Given the description of an element on the screen output the (x, y) to click on. 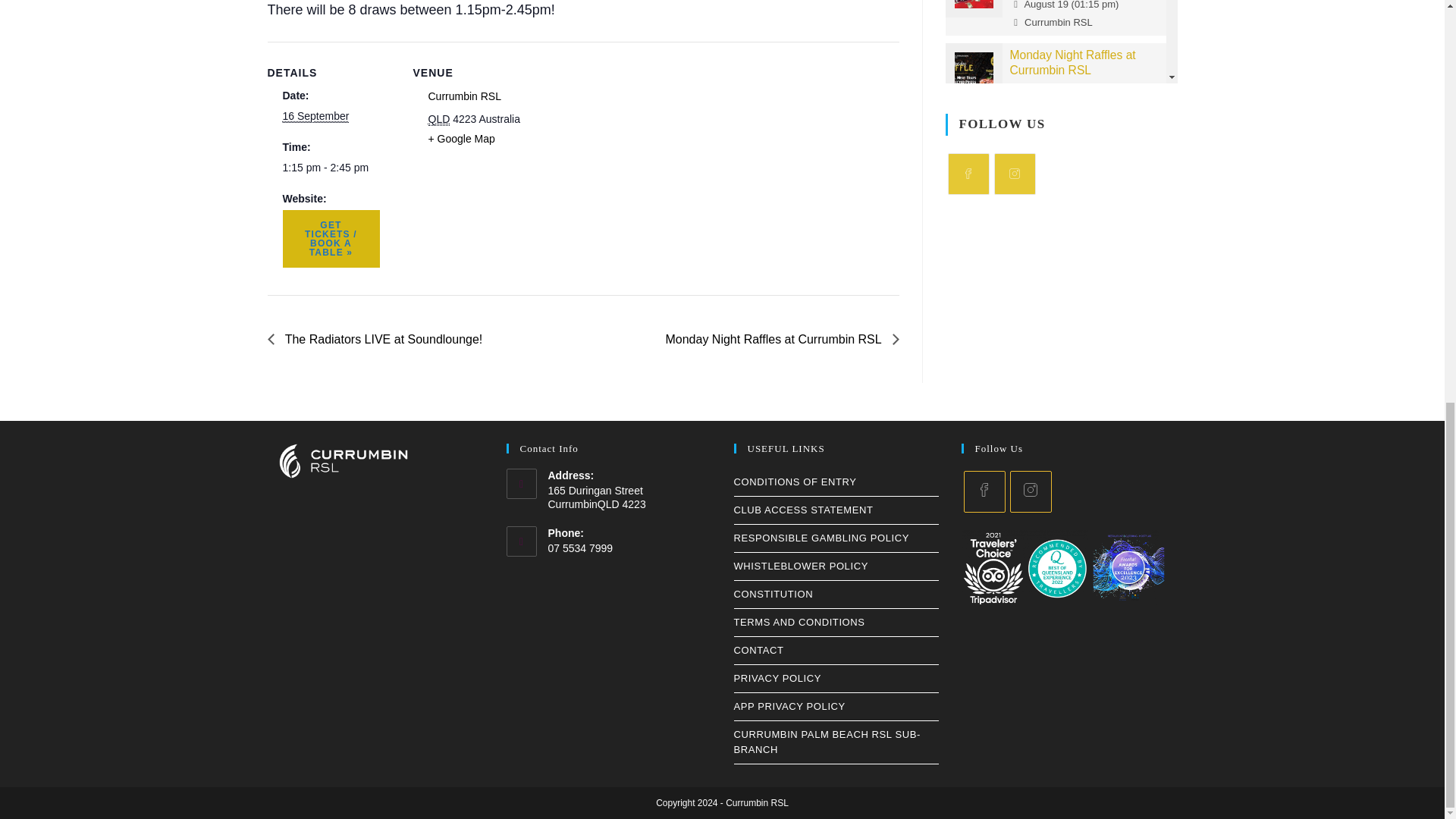
2024-09-16 (330, 167)
Monday Night Raffles at Currumbin RSL (972, 71)
Monday Lucky Roll at Currumbin RSL! (972, 4)
Click to view a Google Map (461, 138)
Google maps iframe displaying the address to Currumbin RSL (637, 146)
2024-09-16 (315, 115)
QLD (438, 119)
